Given the description of an element on the screen output the (x, y) to click on. 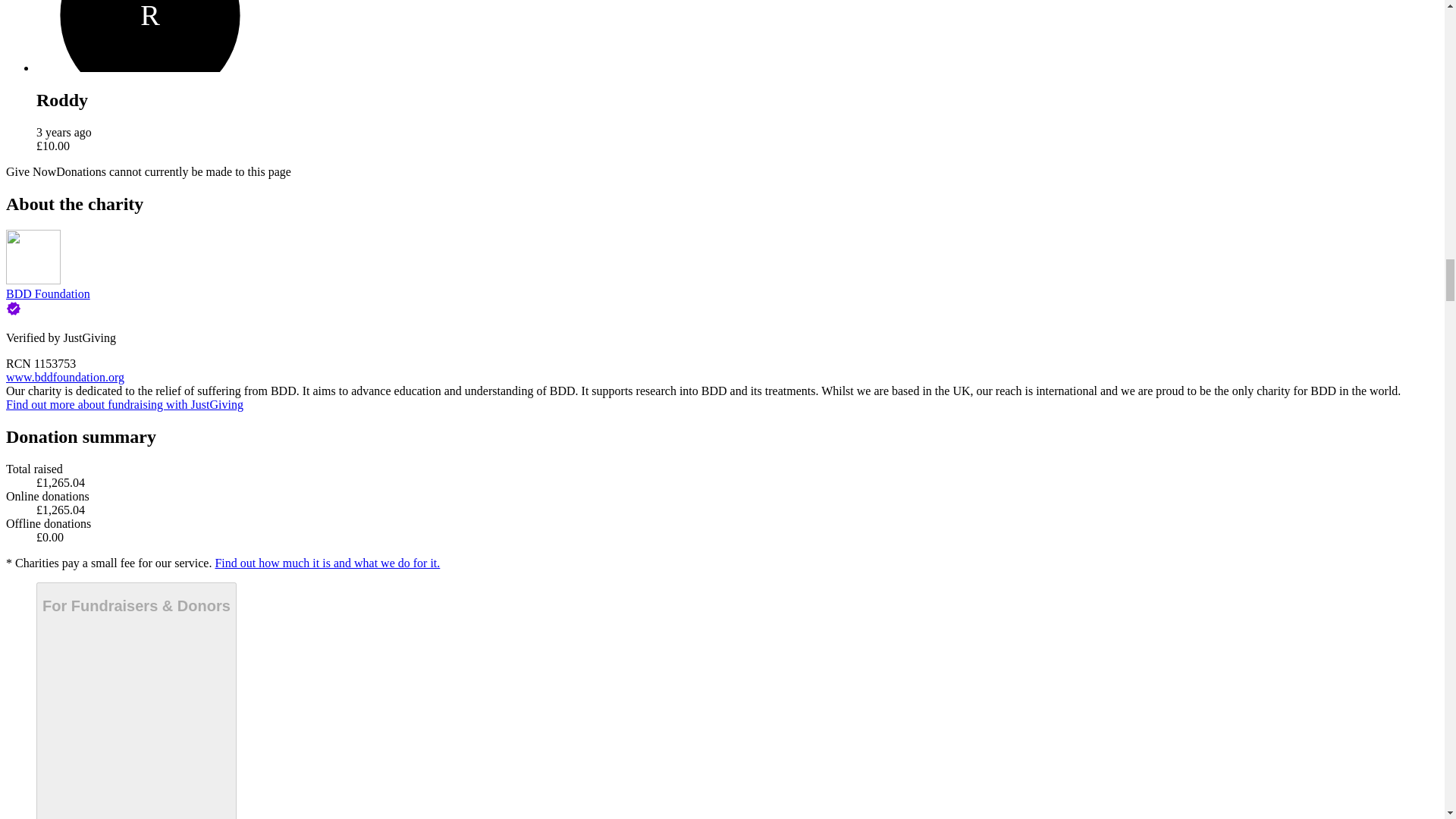
BDD Foundation (47, 293)
Find out more about fundraising with JustGiving (124, 404)
Find out how much it is and what we do for it. (326, 562)
www.bddfoundation.org (64, 377)
